Given the description of an element on the screen output the (x, y) to click on. 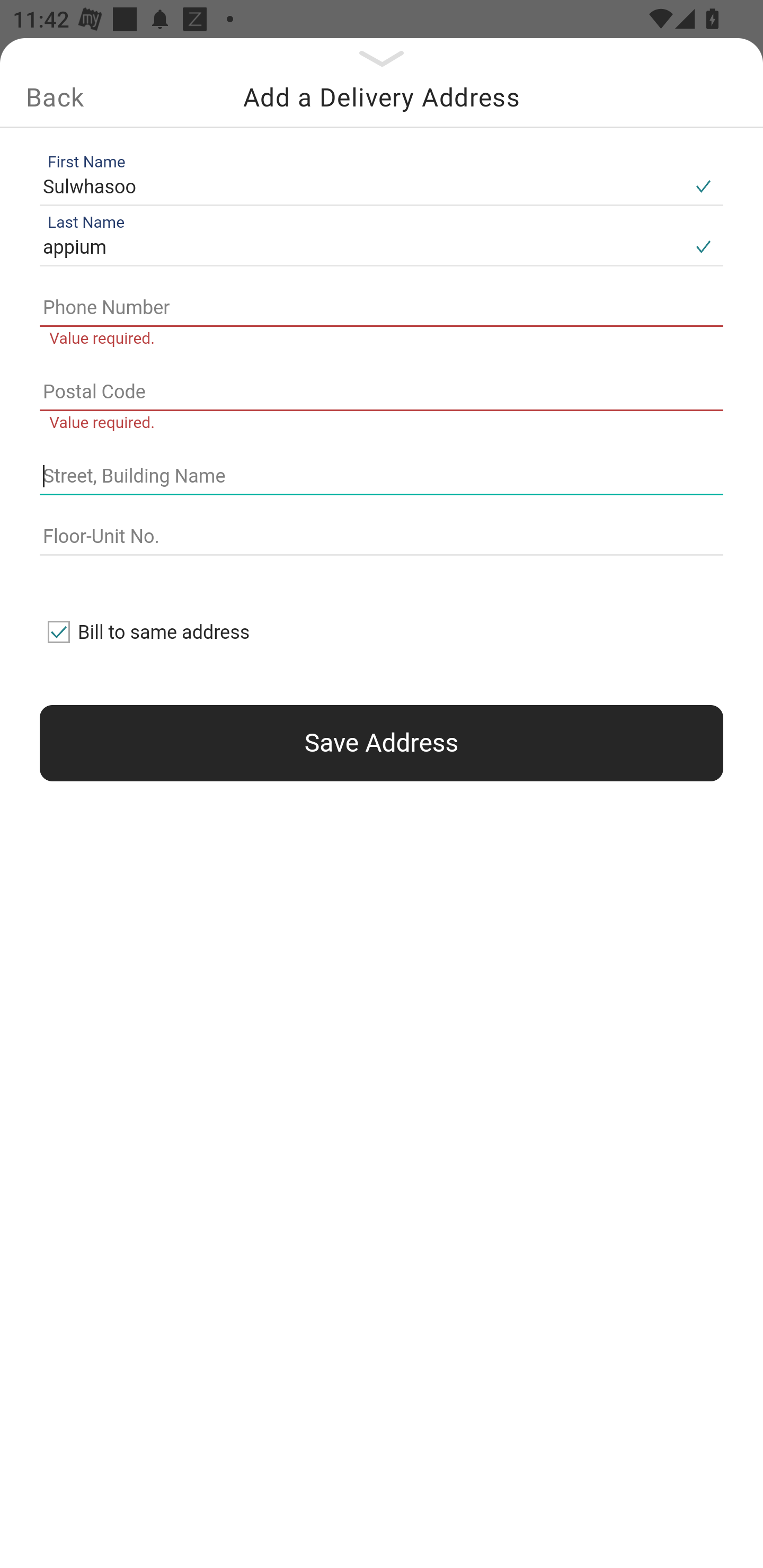
Back (54, 96)
Add a Delivery Address (381, 96)
Sulwhasoo (361, 186)
appium (361, 247)
Save Address (381, 742)
